Given the description of an element on the screen output the (x, y) to click on. 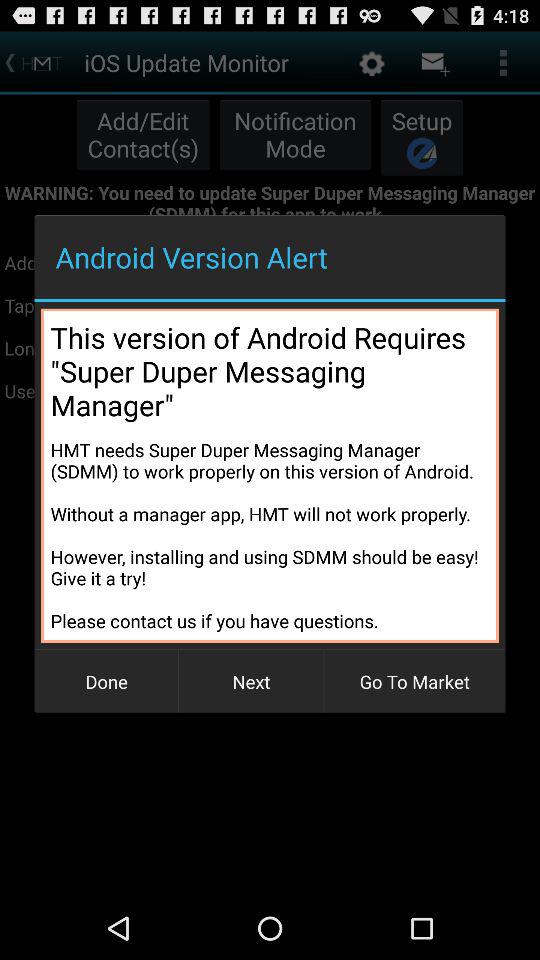
tap button to the left of go to market (251, 681)
